Given the description of an element on the screen output the (x, y) to click on. 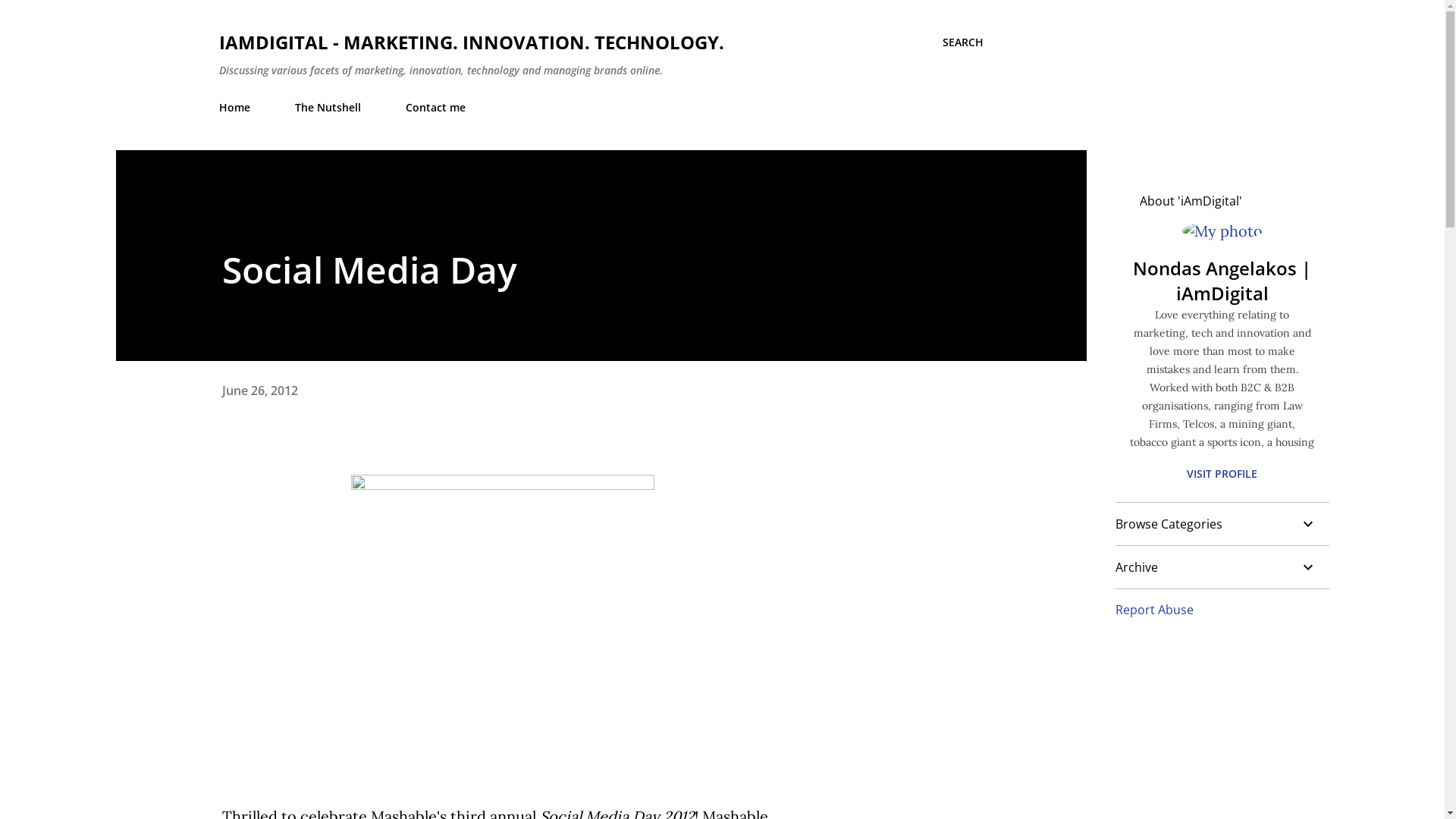
SEARCH Element type: text (961, 42)
The Nutshell Element type: text (327, 107)
Nondas Angelakos | iAmDigital Element type: text (1221, 280)
Contact me Element type: text (434, 107)
Home Element type: text (238, 107)
Report Abuse Element type: text (1153, 609)
June 26, 2012 Element type: text (259, 390)
IAMDIGITAL - MARKETING. INNOVATION. TECHNOLOGY. Element type: text (470, 41)
VISIT PROFILE Element type: text (1221, 473)
